Given the description of an element on the screen output the (x, y) to click on. 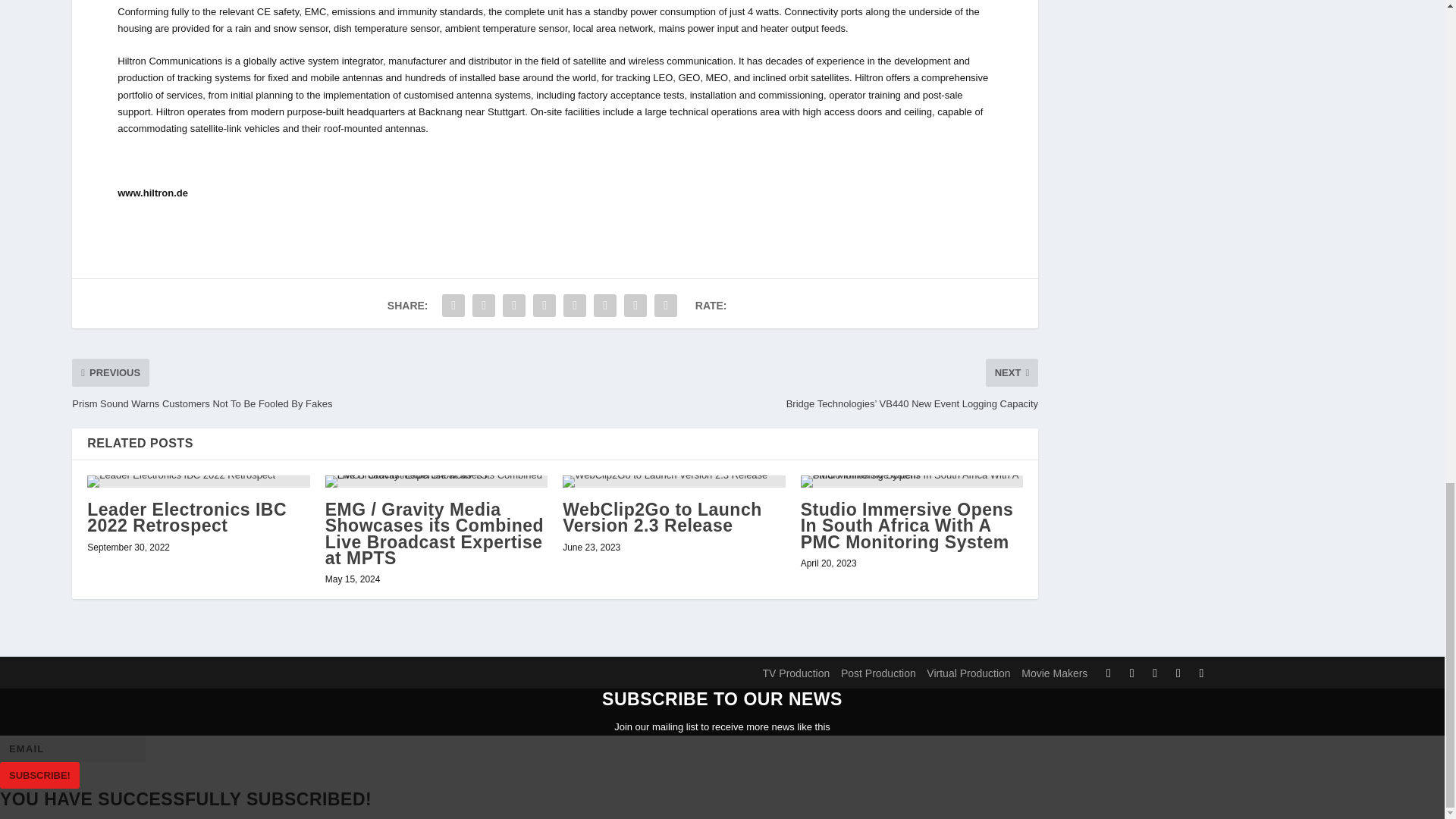
Wooden Camera Introduces Versatile Accessory Plate Systems (197, 551)
CJP makes two board appointments to drive continued growth (657, 655)
Wooden Camera Introduces Versatile Accessory Plate Systems (197, 655)
CJP makes two board appointments to drive continued growth (673, 551)
